Given the description of an element on the screen output the (x, y) to click on. 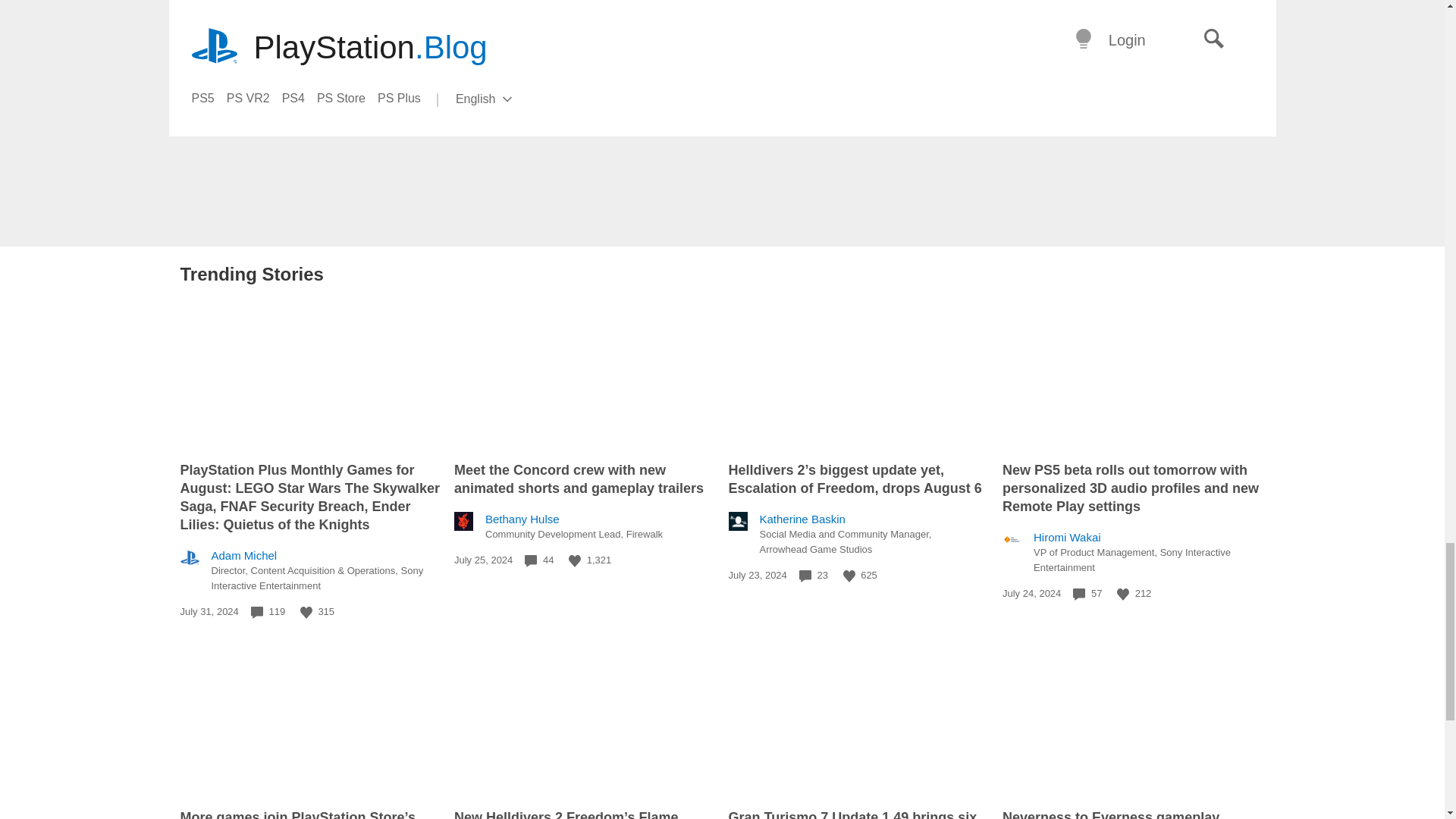
Like this (306, 612)
Like this (1122, 594)
Like this (574, 561)
Like this (849, 576)
